Given the description of an element on the screen output the (x, y) to click on. 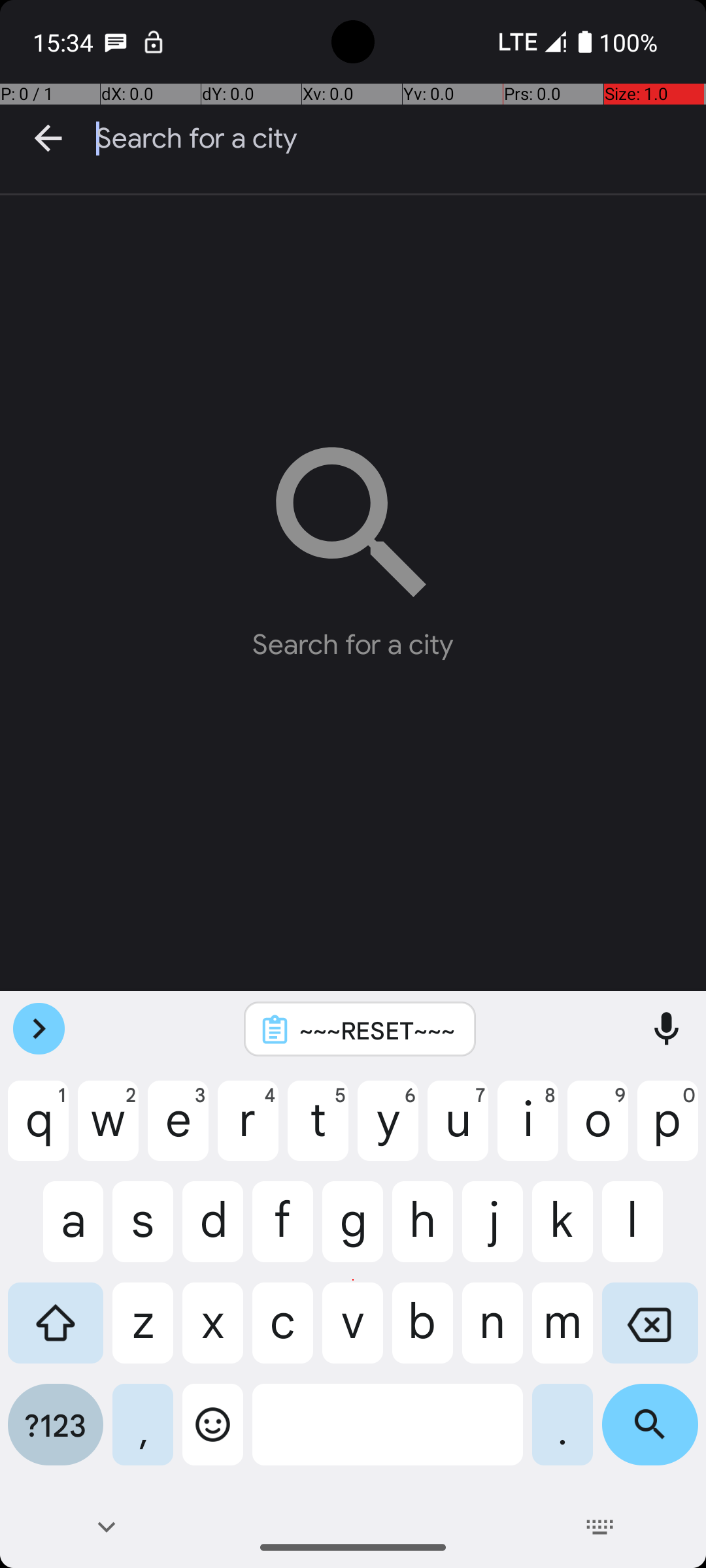
Search for a city Element type: android.widget.EditText (401, 138)
Tasks notification: Connection security Element type: android.widget.ImageView (153, 41)
